Given the description of an element on the screen output the (x, y) to click on. 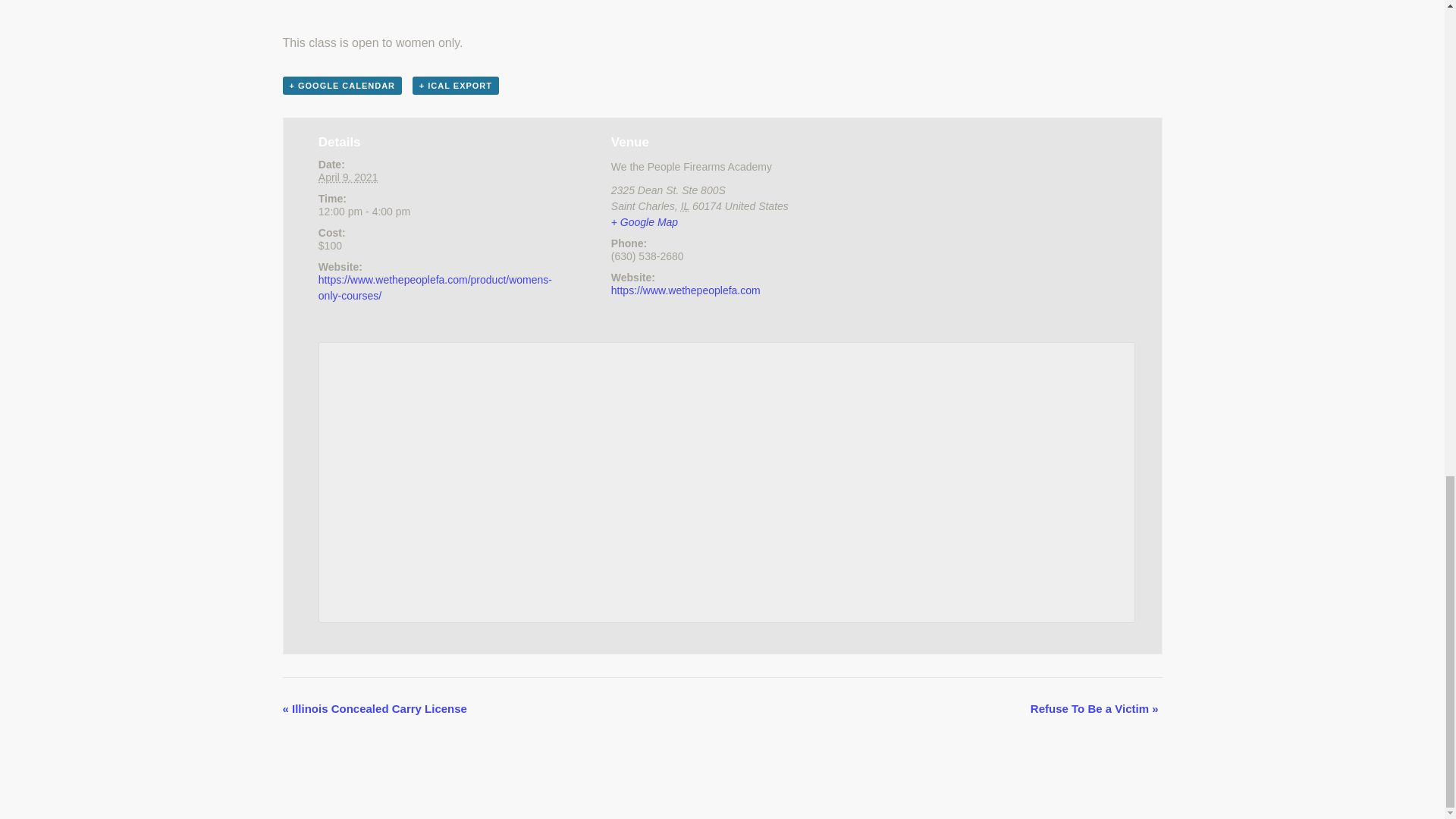
Download .ics file (455, 85)
Click to view a Google Map (644, 222)
2021-04-09 (429, 211)
2021-04-09 (348, 177)
Add to Google Calendar (341, 85)
